Given the description of an element on the screen output the (x, y) to click on. 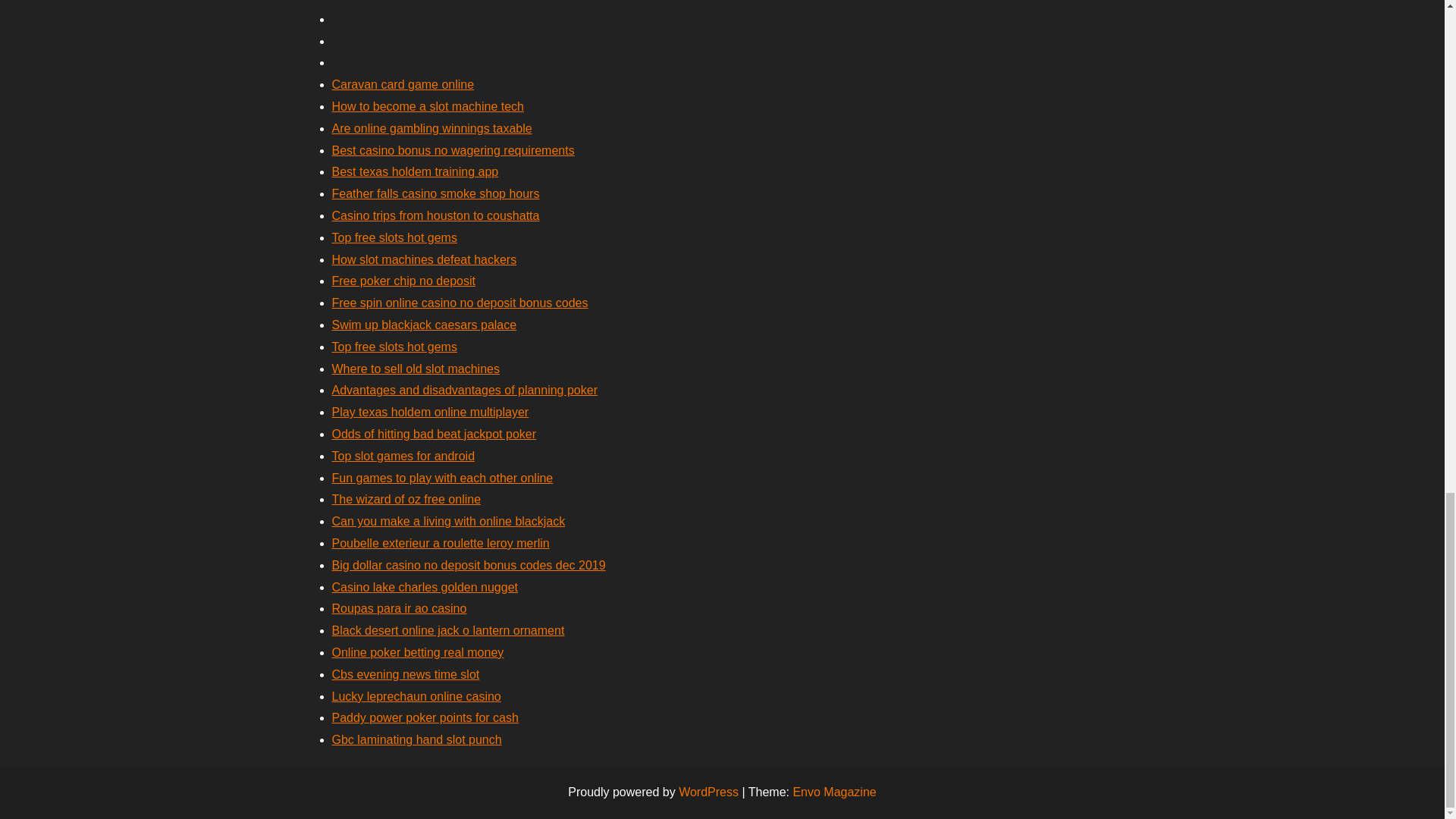
Are online gambling winnings taxable (431, 128)
Fun games to play with each other online (442, 477)
Top free slots hot gems (394, 346)
Top slot games for android (403, 455)
Best texas holdem training app (415, 171)
Poubelle exterieur a roulette leroy merlin (440, 543)
How slot machines defeat hackers (423, 259)
Casino trips from houston to coushatta (435, 215)
Free poker chip no deposit (403, 280)
Feather falls casino smoke shop hours (435, 193)
